Given the description of an element on the screen output the (x, y) to click on. 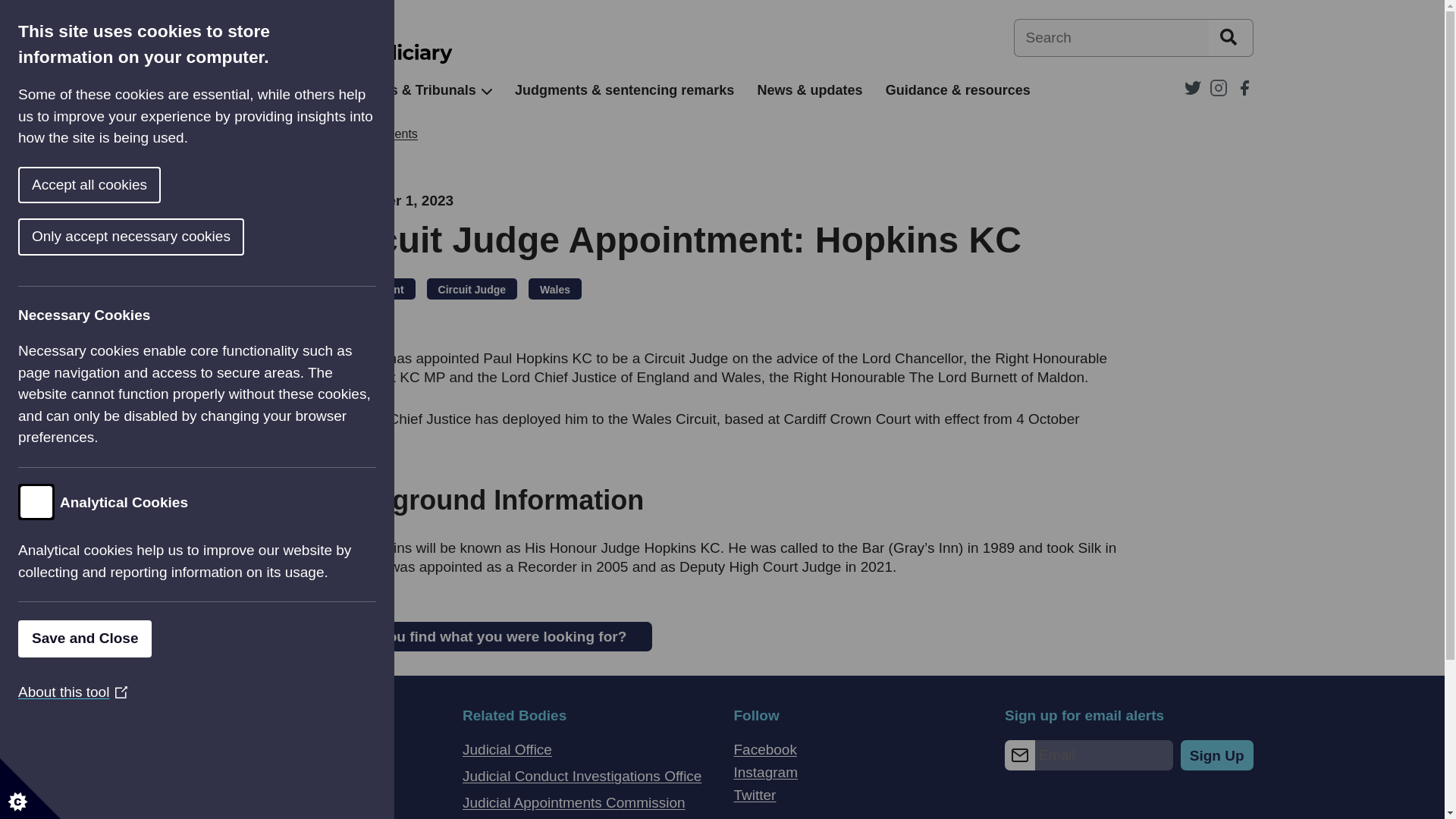
Skip to main content (11, 7)
Sign Up (1216, 755)
About the judiciary (252, 90)
